Given the description of an element on the screen output the (x, y) to click on. 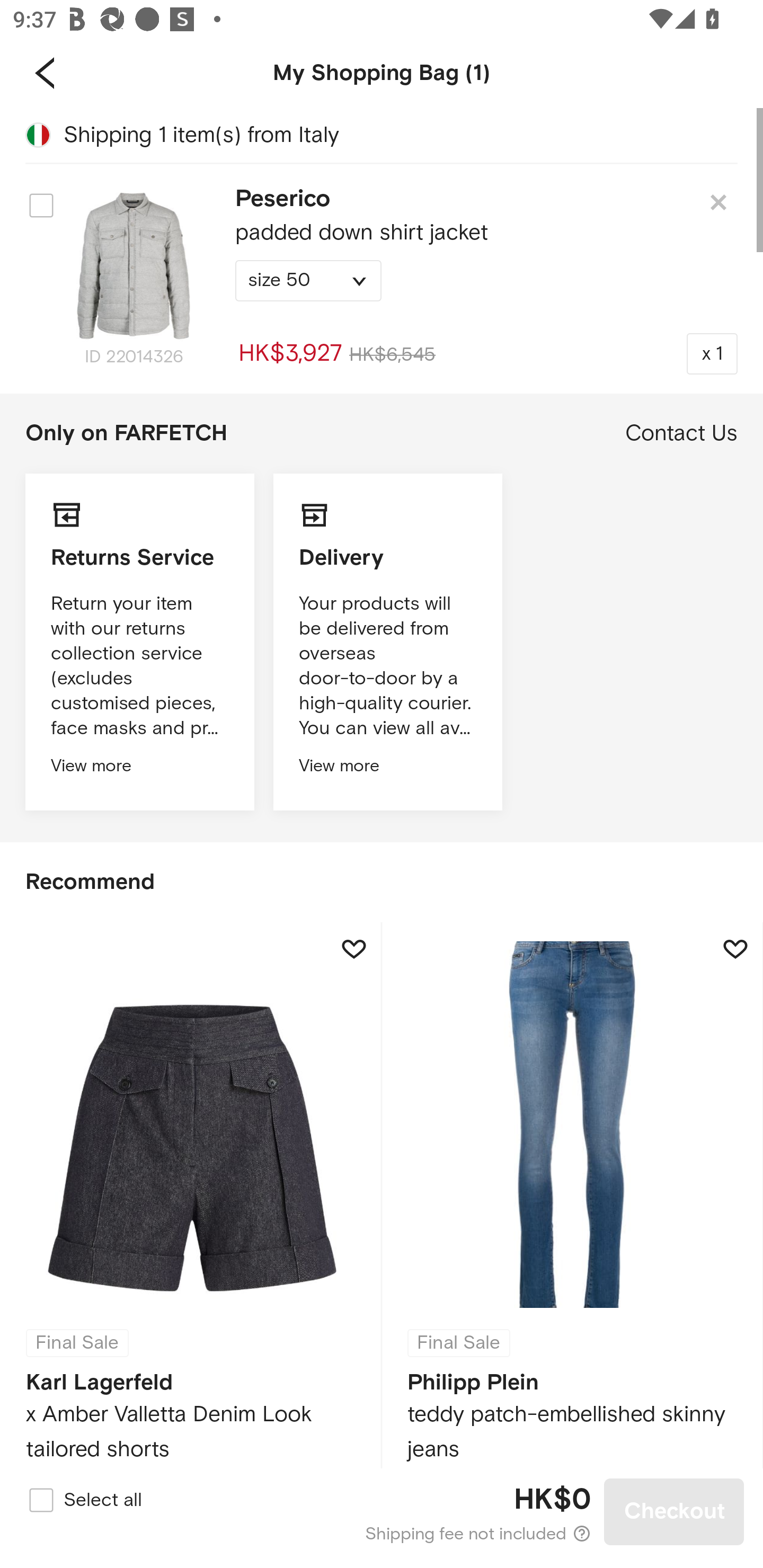
size 50 (308, 280)
x 1 (711, 353)
Contact Us (680, 433)
HK$0 Shipping fee not included (382, 1512)
Checkout (673, 1511)
